Given the description of an element on the screen output the (x, y) to click on. 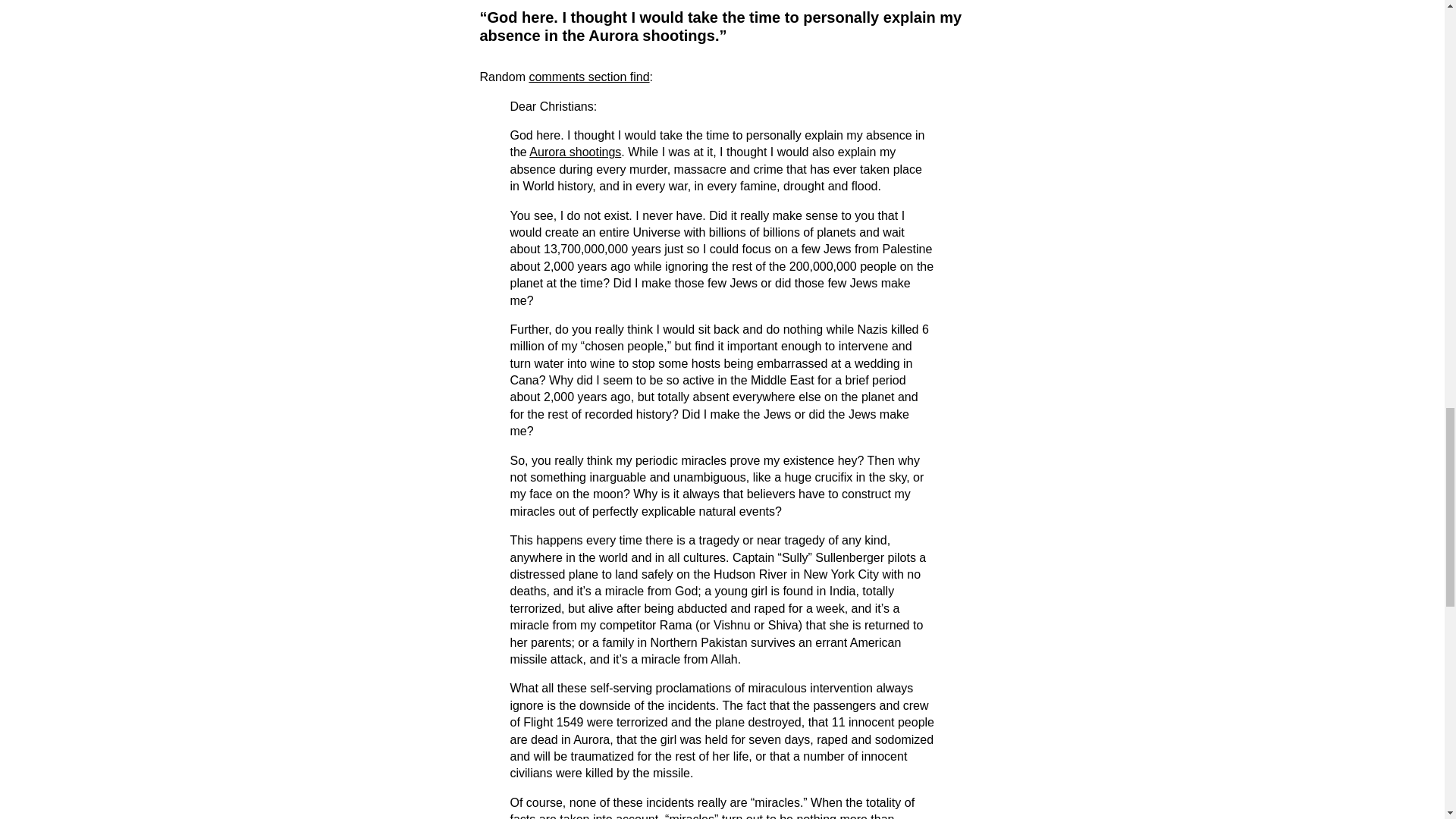
Aurora shootings (575, 151)
July 31, 2012 (511, 0)
comments section find (588, 76)
